Given the description of an element on the screen output the (x, y) to click on. 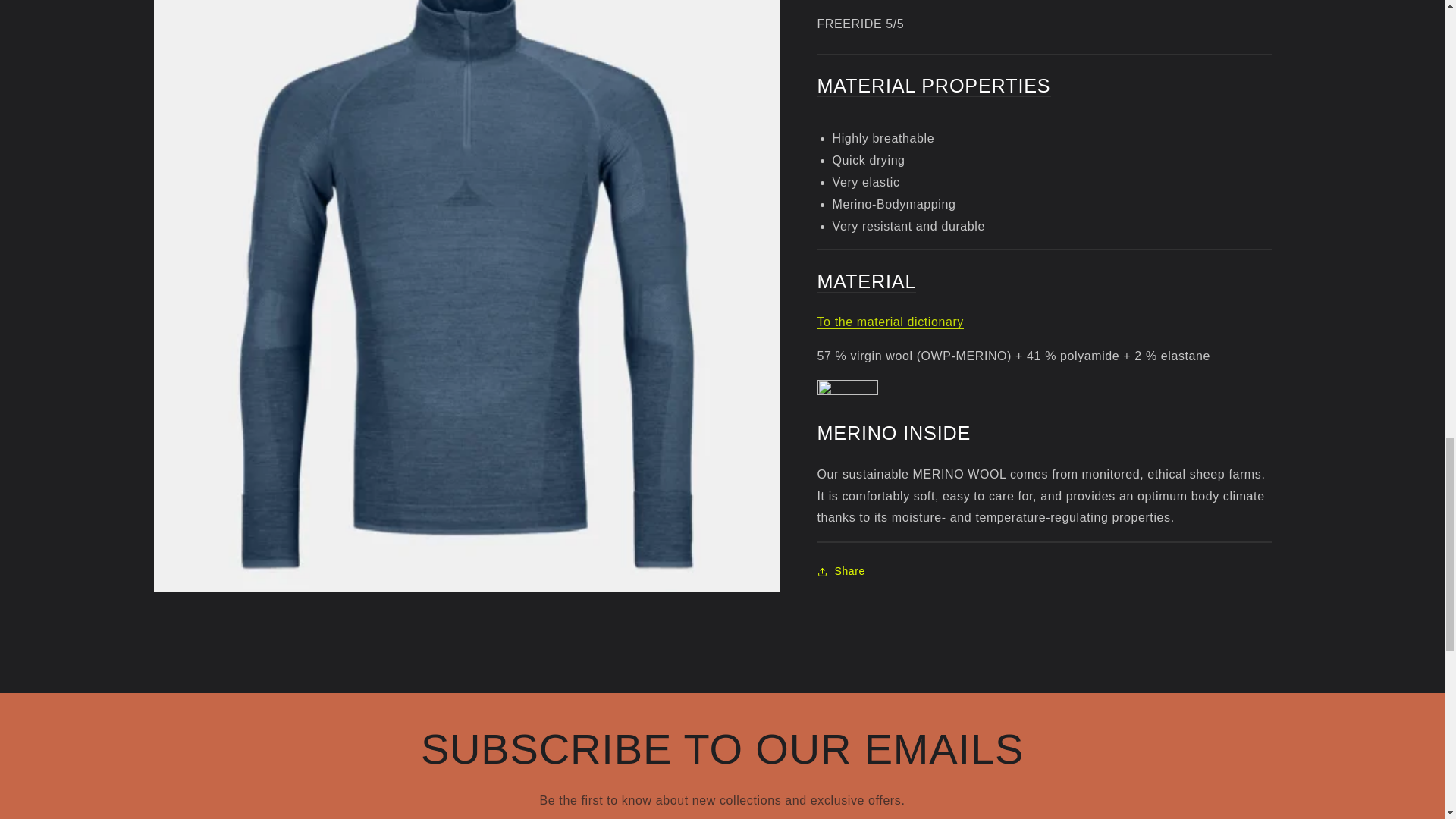
opens in a new tab (889, 321)
